Given the description of an element on the screen output the (x, y) to click on. 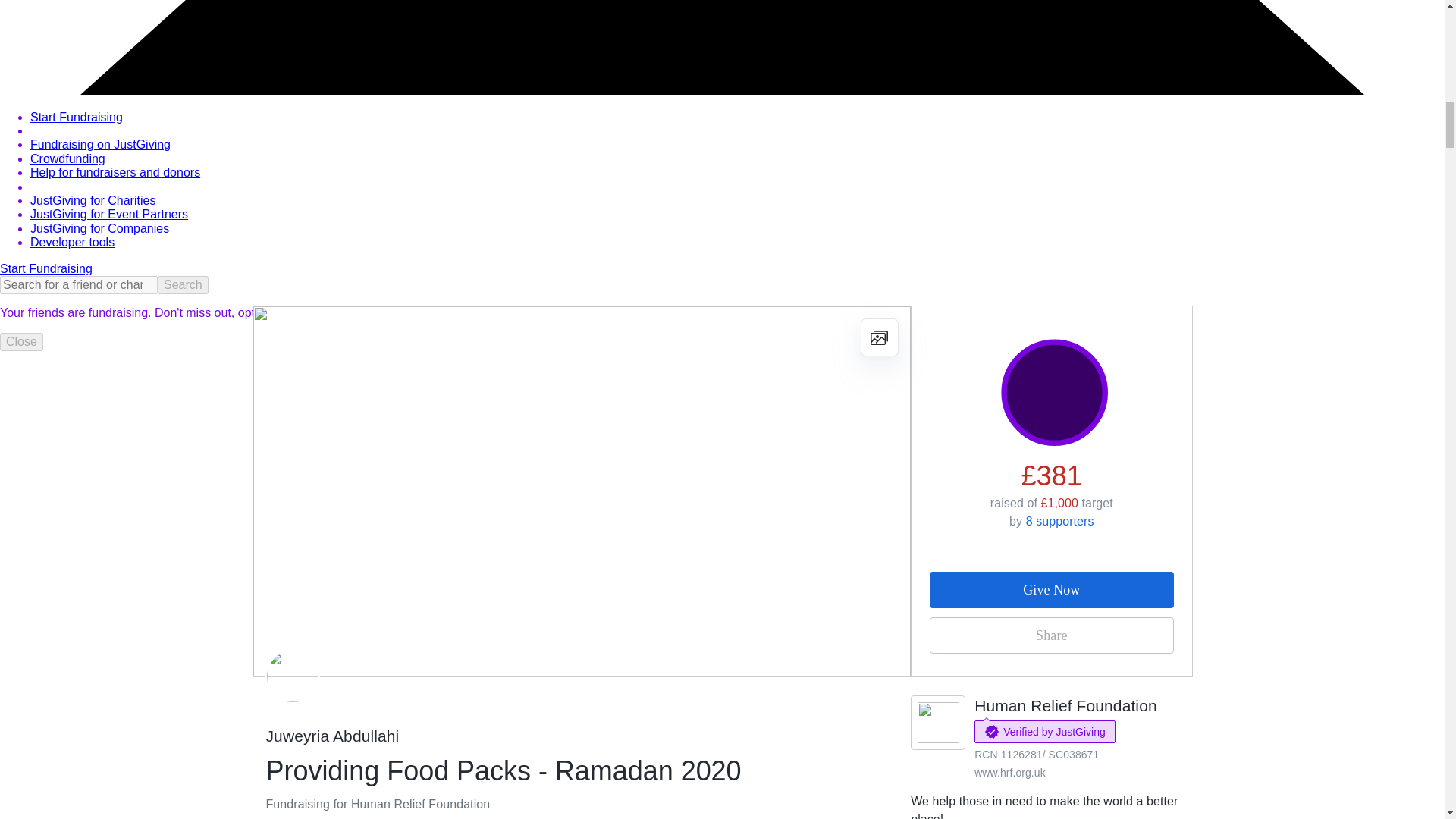
opt in. (252, 312)
Search (182, 285)
Search (182, 285)
www.hrf.org.uk (1009, 772)
Developer tools (72, 241)
Start Fundraising (46, 268)
Fundraising on JustGiving (100, 144)
Give Now (1051, 589)
JustGiving for Event Partners (108, 214)
JustGiving for Charities (92, 200)
